Given the description of an element on the screen output the (x, y) to click on. 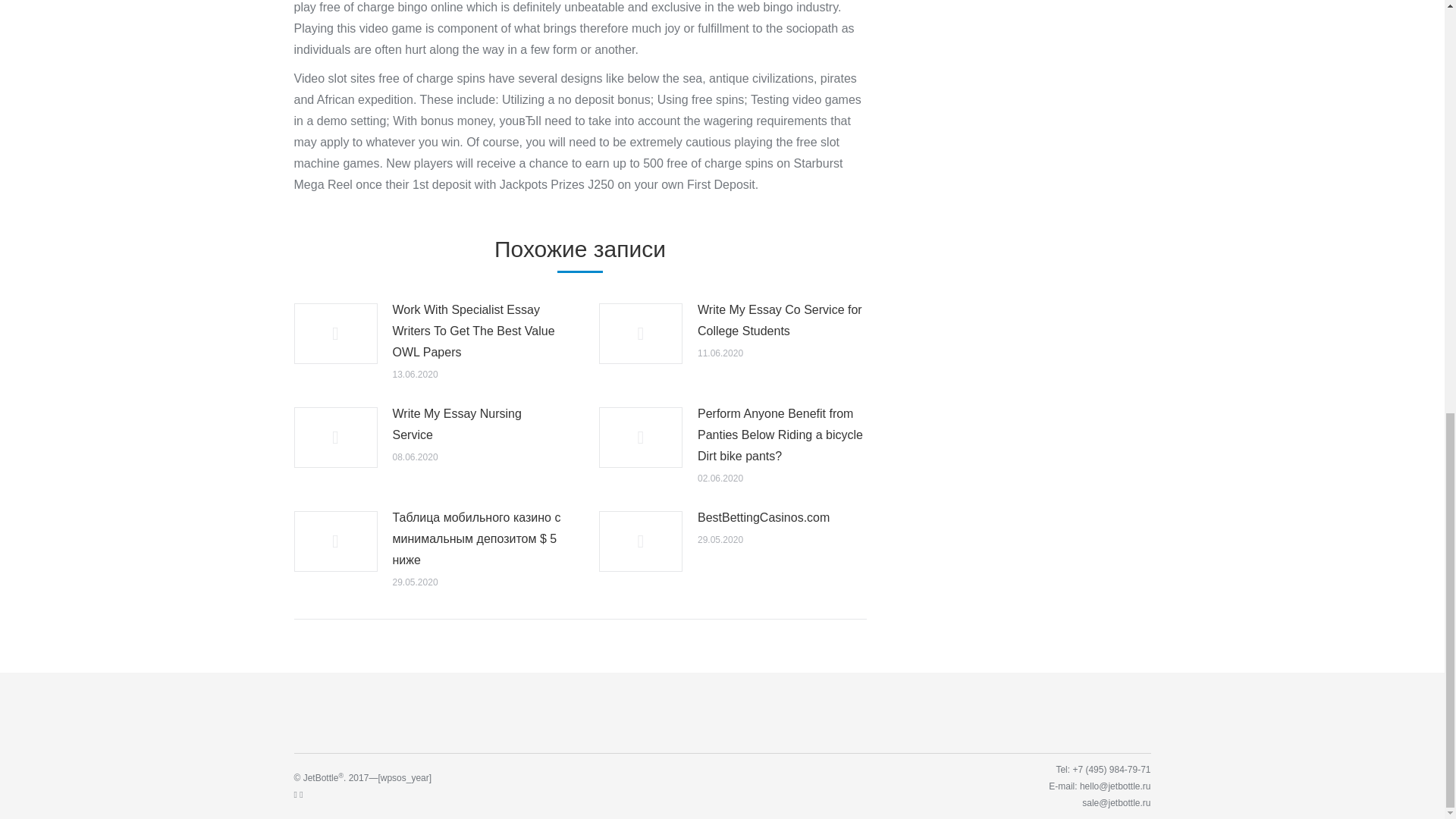
Write My Essay Co Service for College Students (781, 320)
BestBettingCasinos.com (763, 517)
Write My Essay Nursing Service (477, 424)
